Given the description of an element on the screen output the (x, y) to click on. 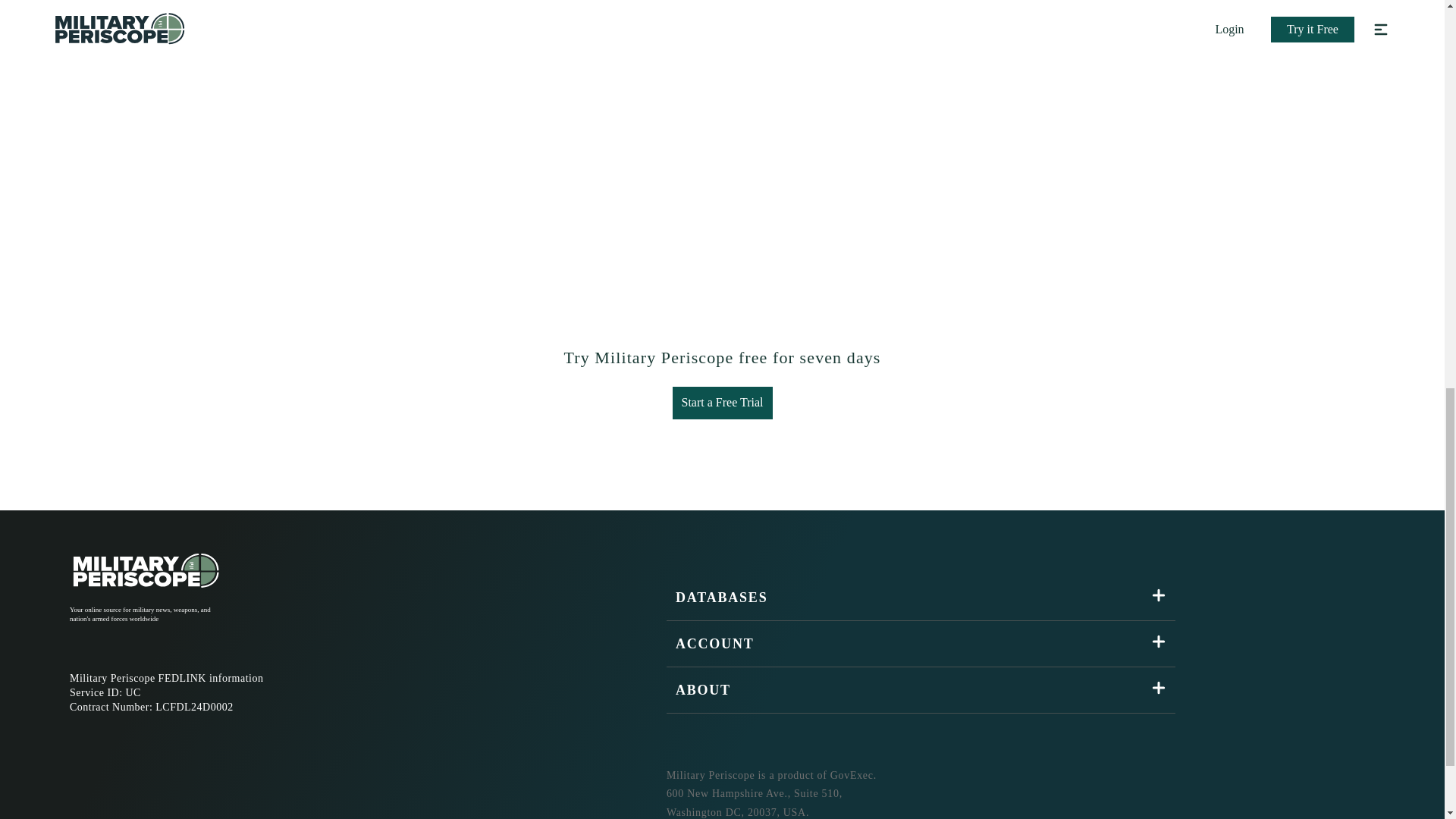
Start a Free Trial (721, 402)
